Given the description of an element on the screen output the (x, y) to click on. 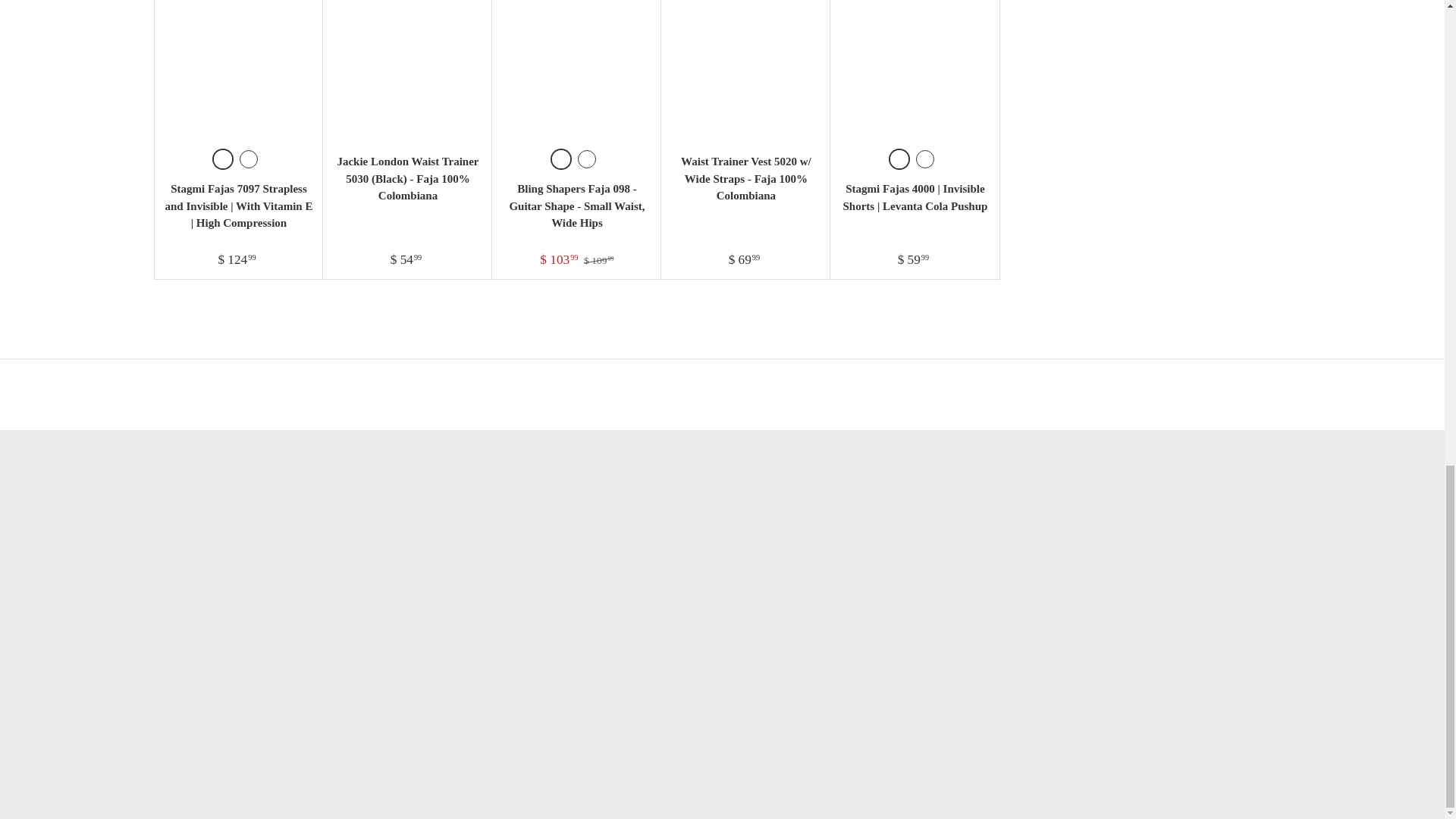
Cocoa (248, 158)
Black (924, 158)
Cocoa (586, 158)
Black (222, 158)
